Given the description of an element on the screen output the (x, y) to click on. 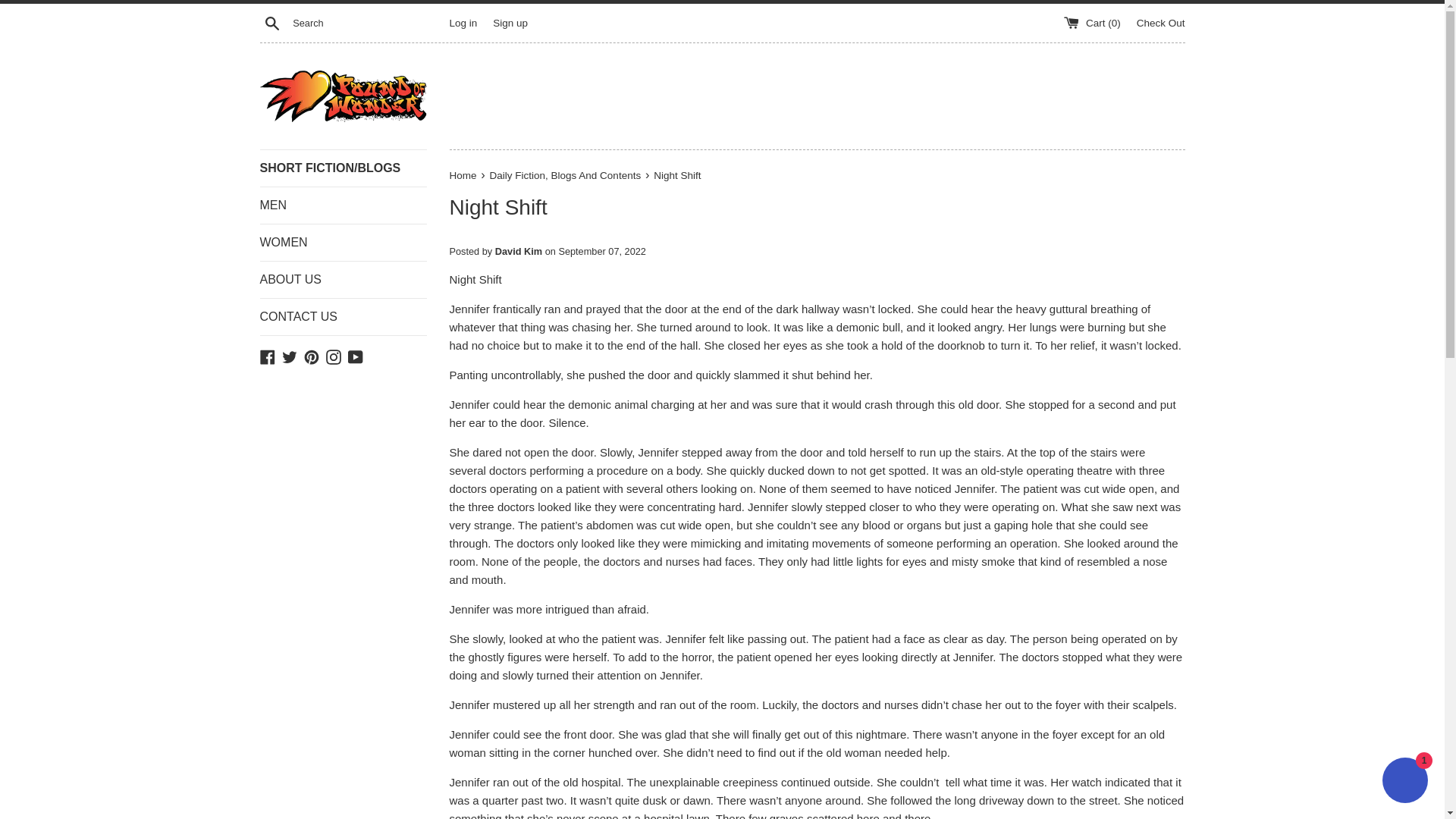
Search (271, 21)
Check Out (1161, 21)
MEN (342, 205)
Pound Of Wonder on Facebook (267, 355)
WOMEN (342, 242)
Daily Fiction, Blogs And Contents (566, 174)
Pound Of Wonder on Instagram (333, 355)
YouTube (354, 355)
ABOUT US (342, 279)
Back to the frontpage (463, 174)
Log in (462, 21)
Home (463, 174)
Sign up (510, 21)
Pound Of Wonder on YouTube (354, 355)
Twitter (289, 355)
